Given the description of an element on the screen output the (x, y) to click on. 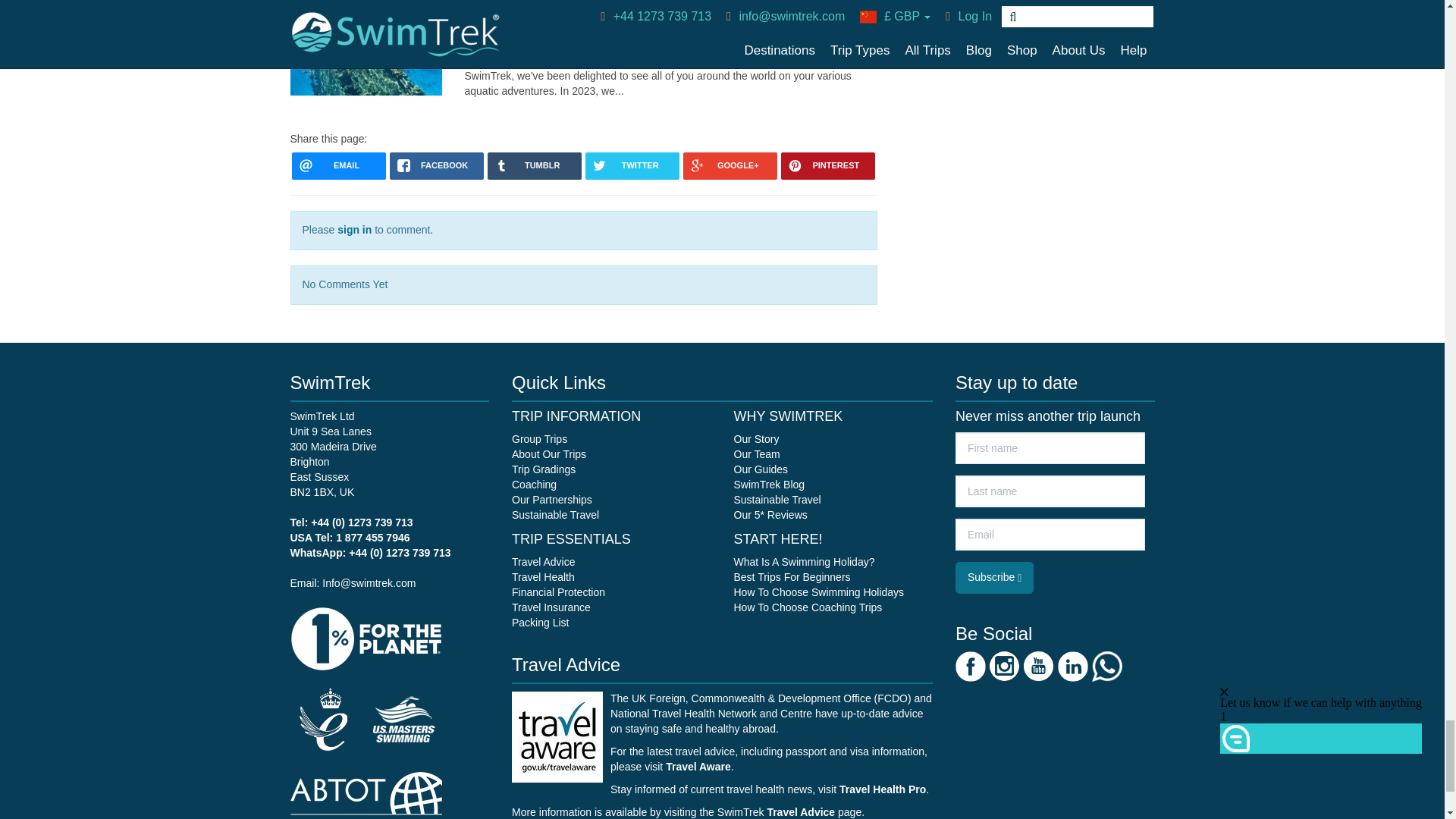
Financial Protection - ABTOT (365, 802)
13 December, 2023 23:57 (553, 20)
One percent for the planet (365, 637)
